Given the description of an element on the screen output the (x, y) to click on. 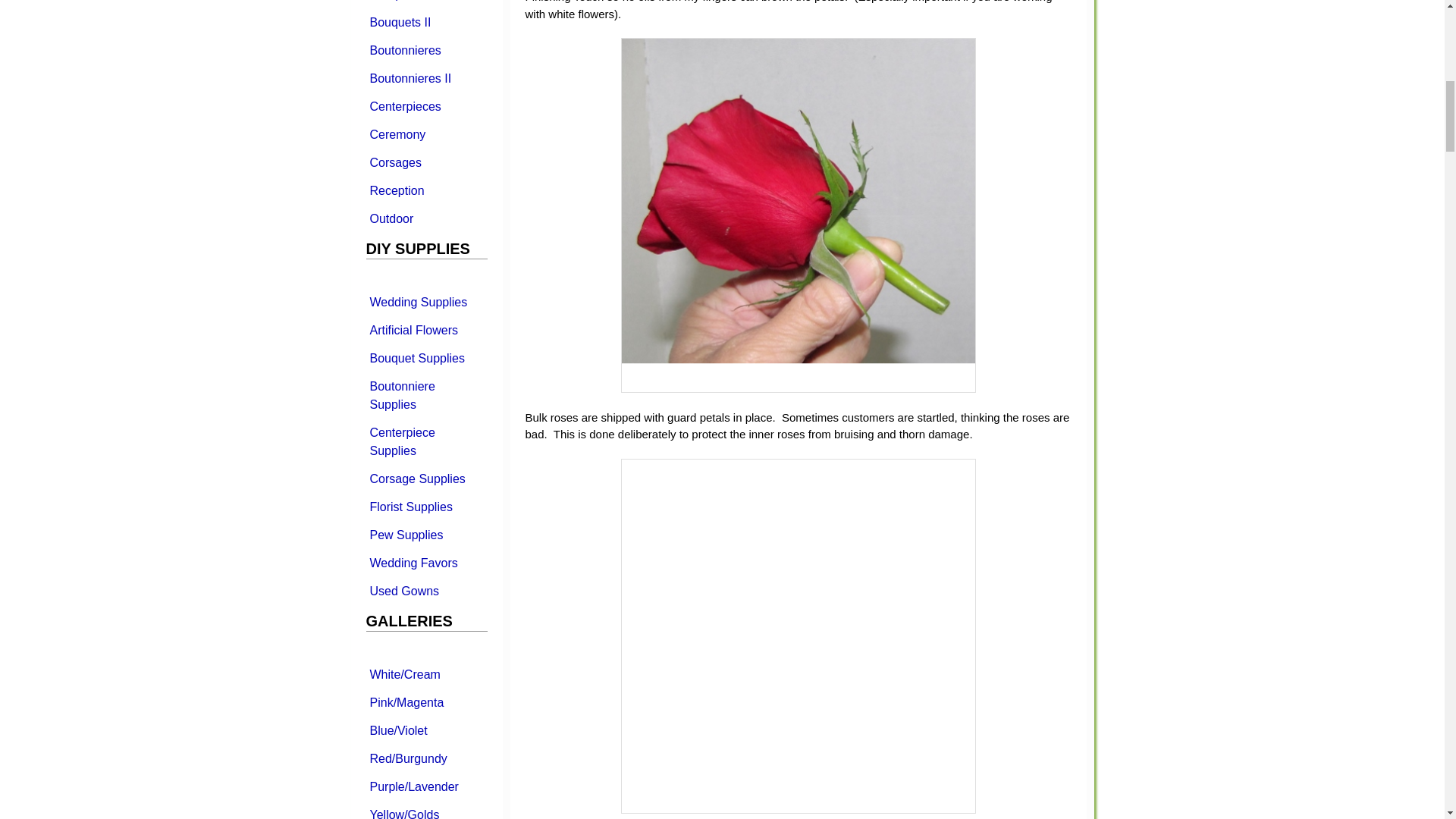
Boutonnieres II (425, 77)
Outdoor (425, 218)
Used Gowns (425, 590)
Pew Supplies (425, 534)
Wedding Supplies (425, 302)
Bouquet Supplies (425, 358)
Wedding Favors (425, 563)
Corsage Supplies (425, 478)
Ceremony (425, 134)
Artificial Flowers (425, 329)
Corsages (425, 162)
Bouquets II (425, 22)
Boutonniere Supplies (425, 394)
Centerpiece Supplies (425, 442)
Florist Supplies (425, 507)
